Given the description of an element on the screen output the (x, y) to click on. 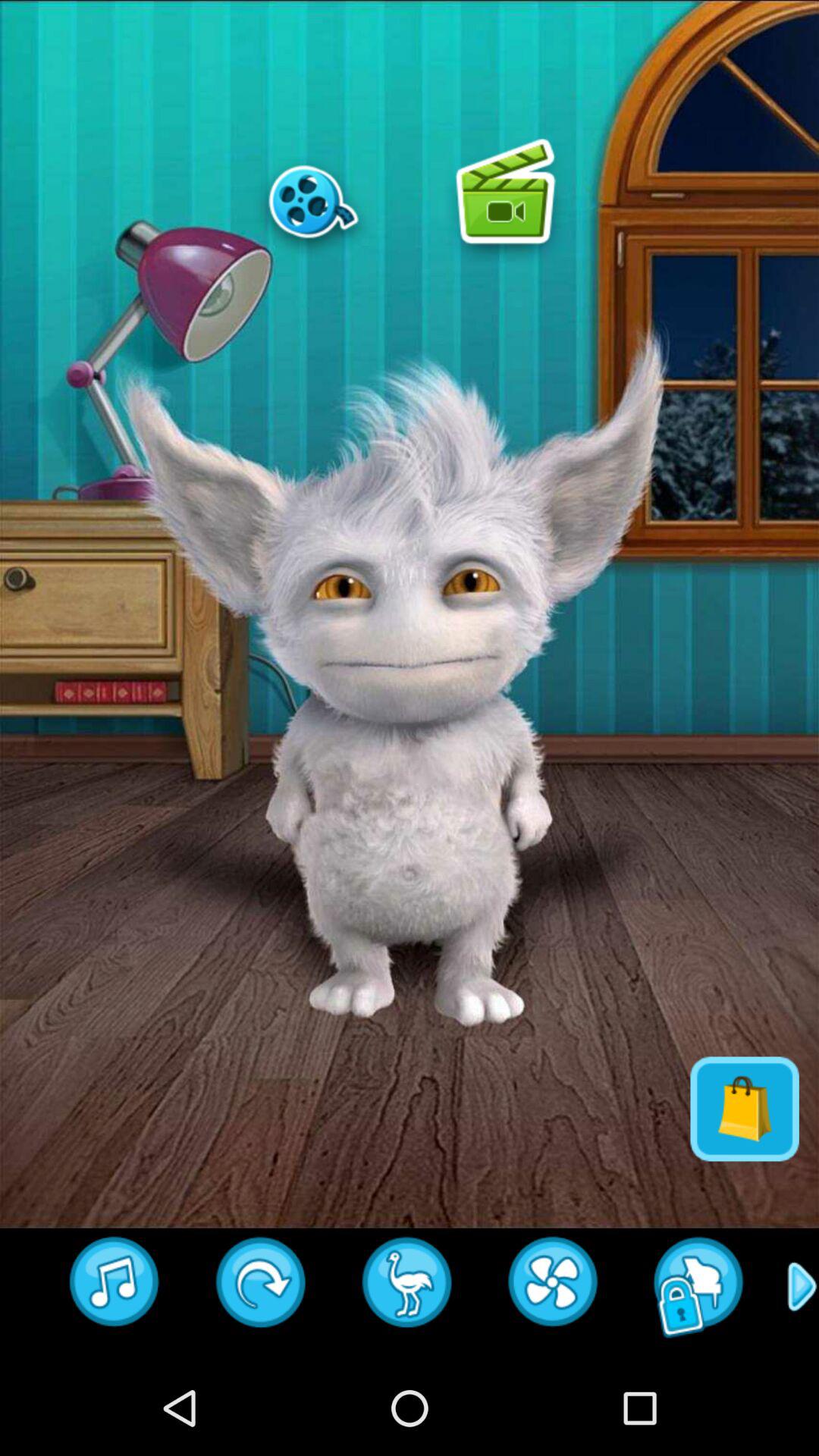
music (114, 1287)
